Given the description of an element on the screen output the (x, y) to click on. 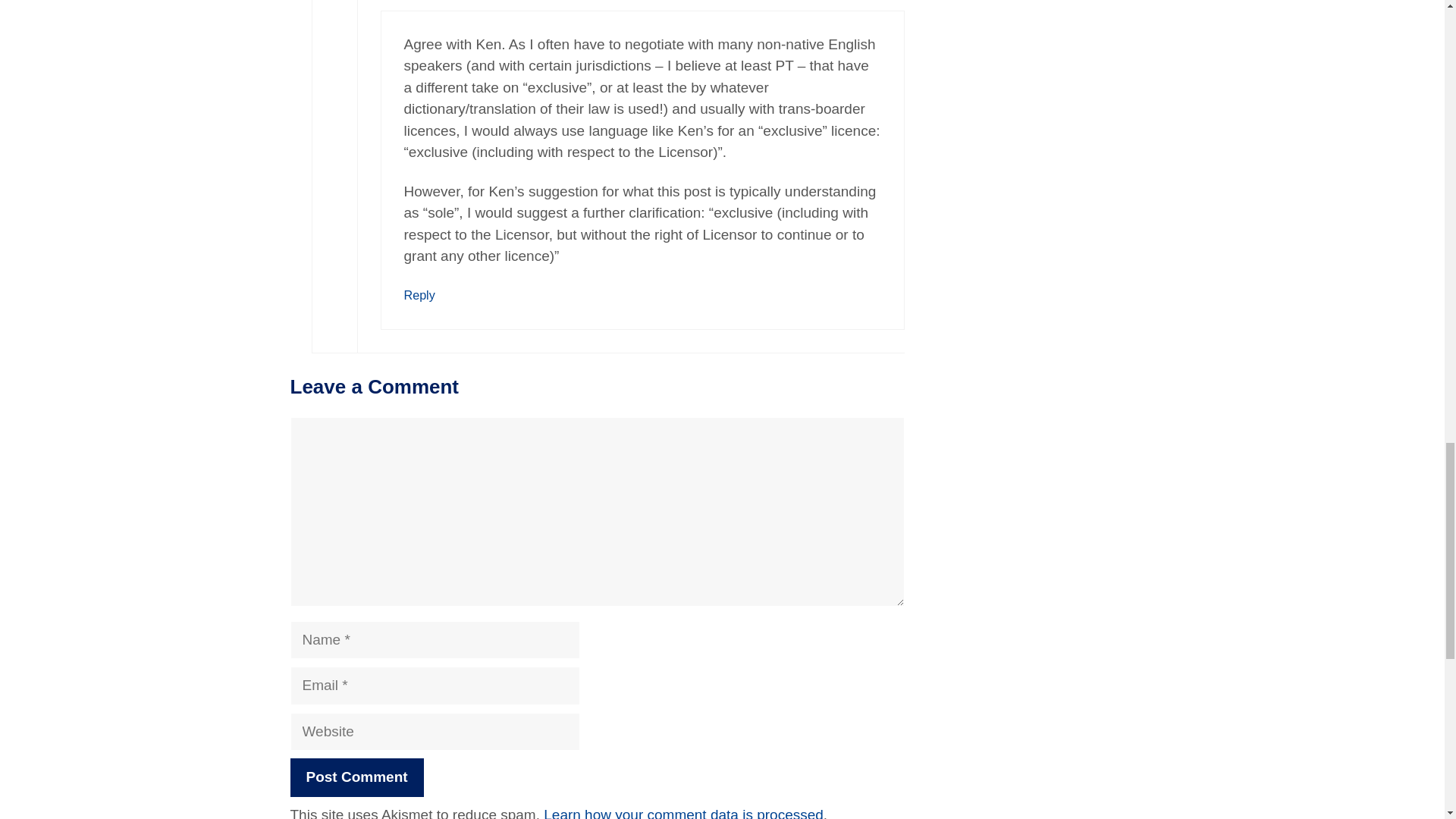
Post Comment (356, 777)
Learn how your comment data is processed (683, 812)
Post Comment (356, 777)
Reply (418, 295)
